Given the description of an element on the screen output the (x, y) to click on. 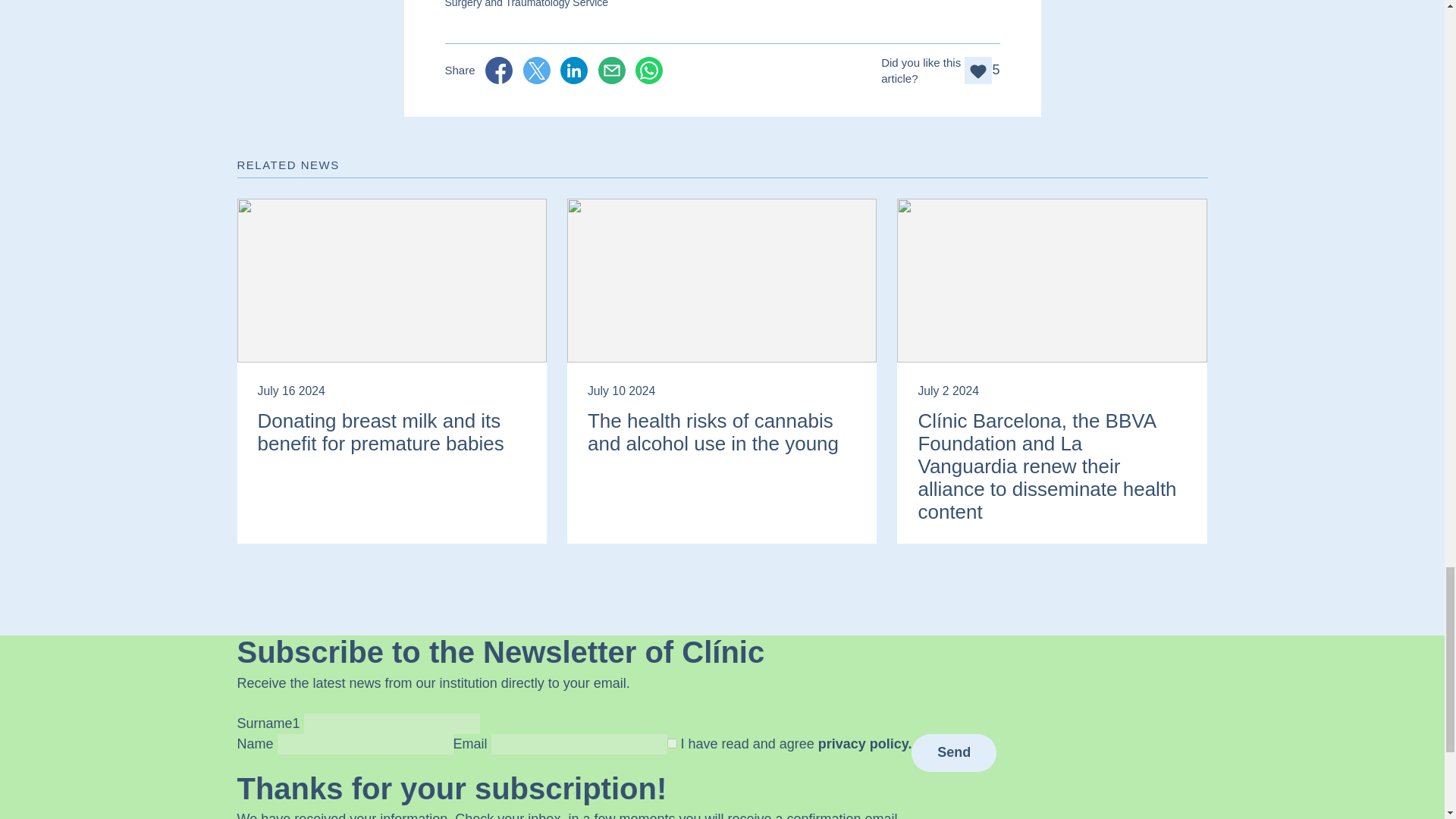
Share on e-Mail (612, 70)
Share on Facebook (498, 70)
Share on Twitter (536, 70)
1 (671, 743)
Share on Whatsapp (648, 70)
Share on LinkedIn (574, 70)
